Given the description of an element on the screen output the (x, y) to click on. 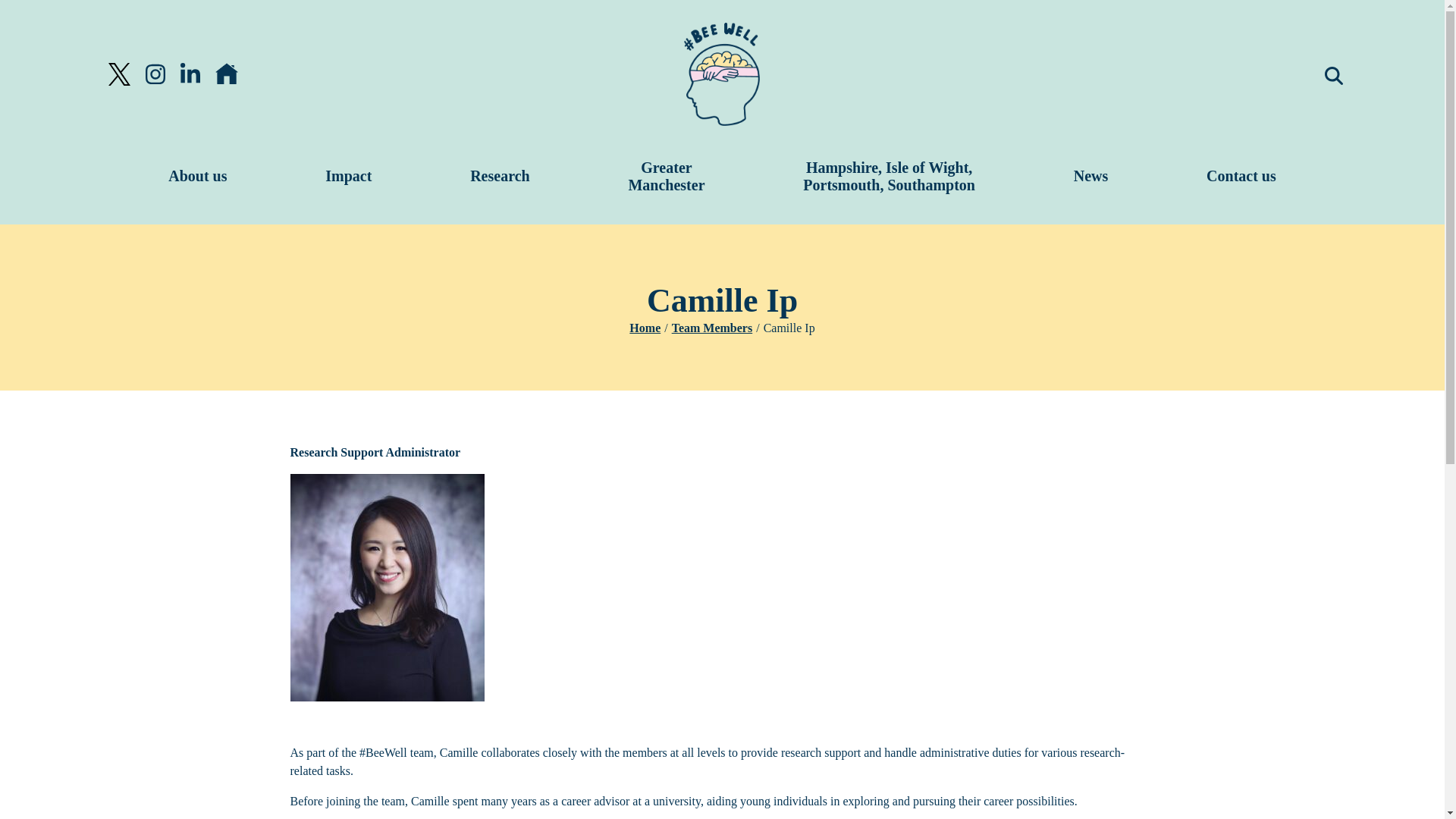
Click here to visit our account on Twitter (118, 74)
Research (499, 174)
Team Members (711, 327)
Home (644, 327)
Click here to visit our account on Home (665, 174)
Impact (226, 74)
About us (348, 174)
Camille Ip (197, 174)
